Given the description of an element on the screen output the (x, y) to click on. 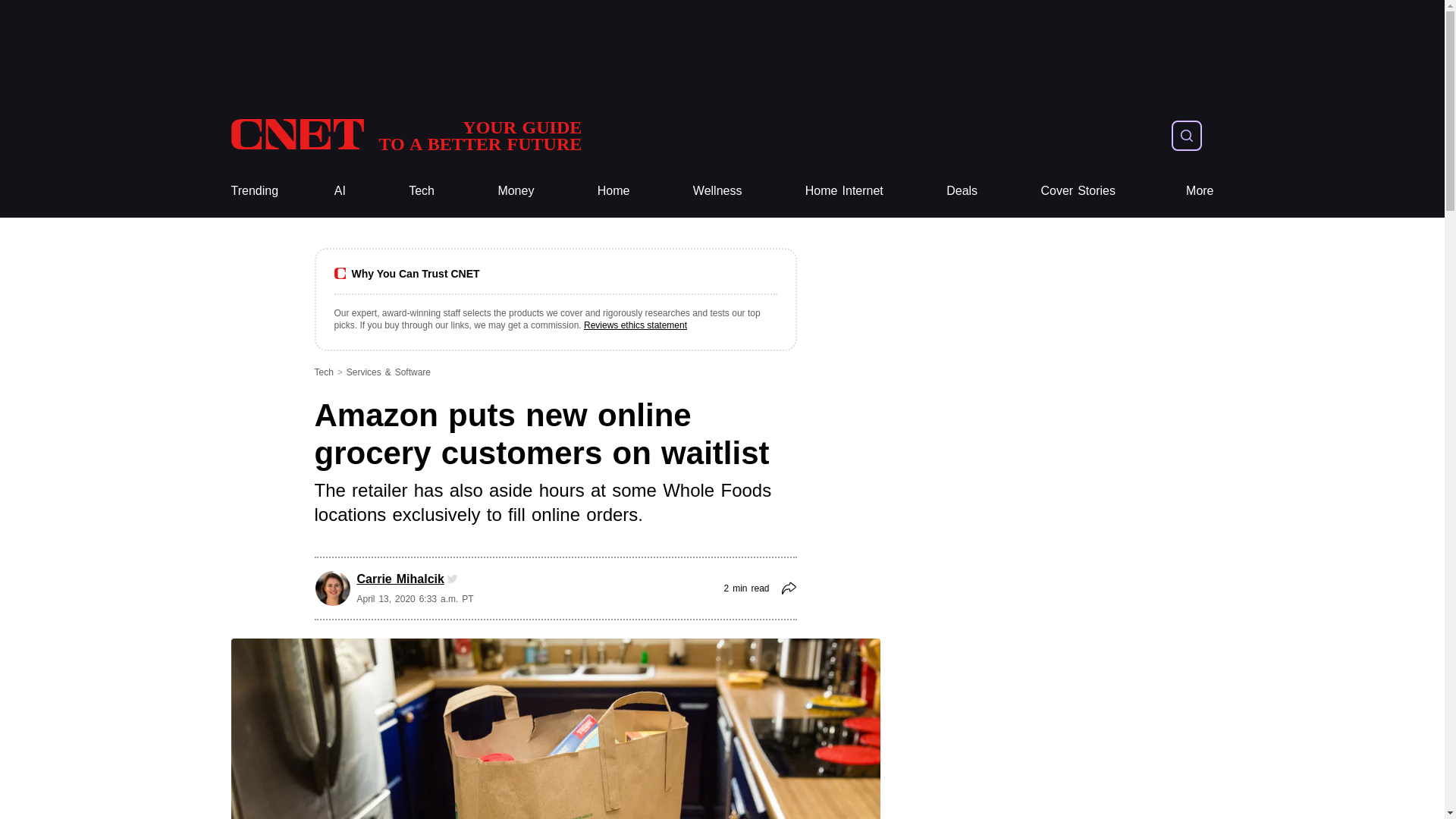
Money (515, 190)
Trending (254, 190)
Trending (254, 190)
Tech (421, 190)
Money (515, 190)
Home Internet (844, 190)
Cover Stories (1078, 190)
Home Internet (844, 190)
Deals (961, 190)
Home (613, 190)
